Given the description of an element on the screen output the (x, y) to click on. 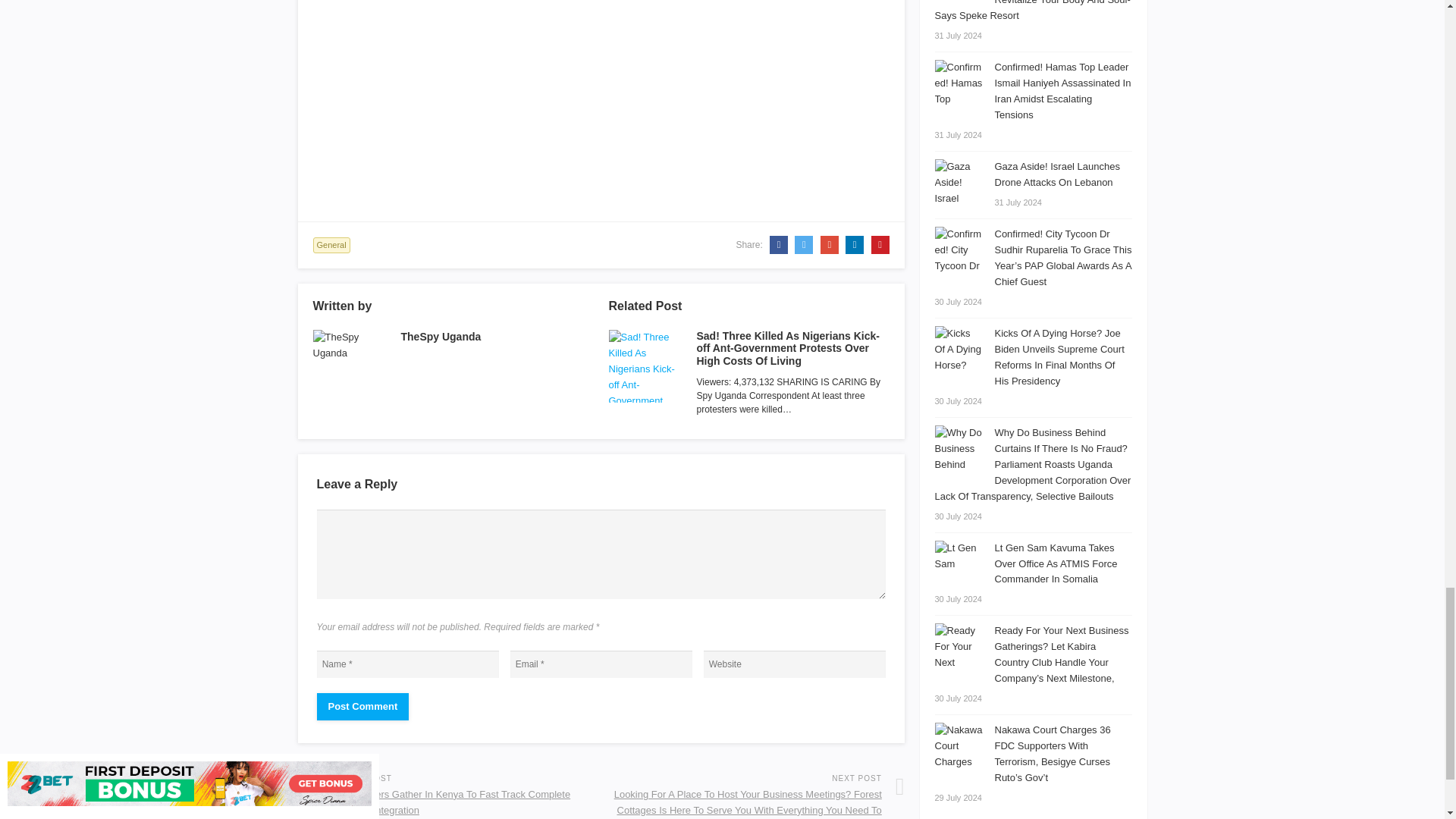
Post Comment (363, 706)
